Given the description of an element on the screen output the (x, y) to click on. 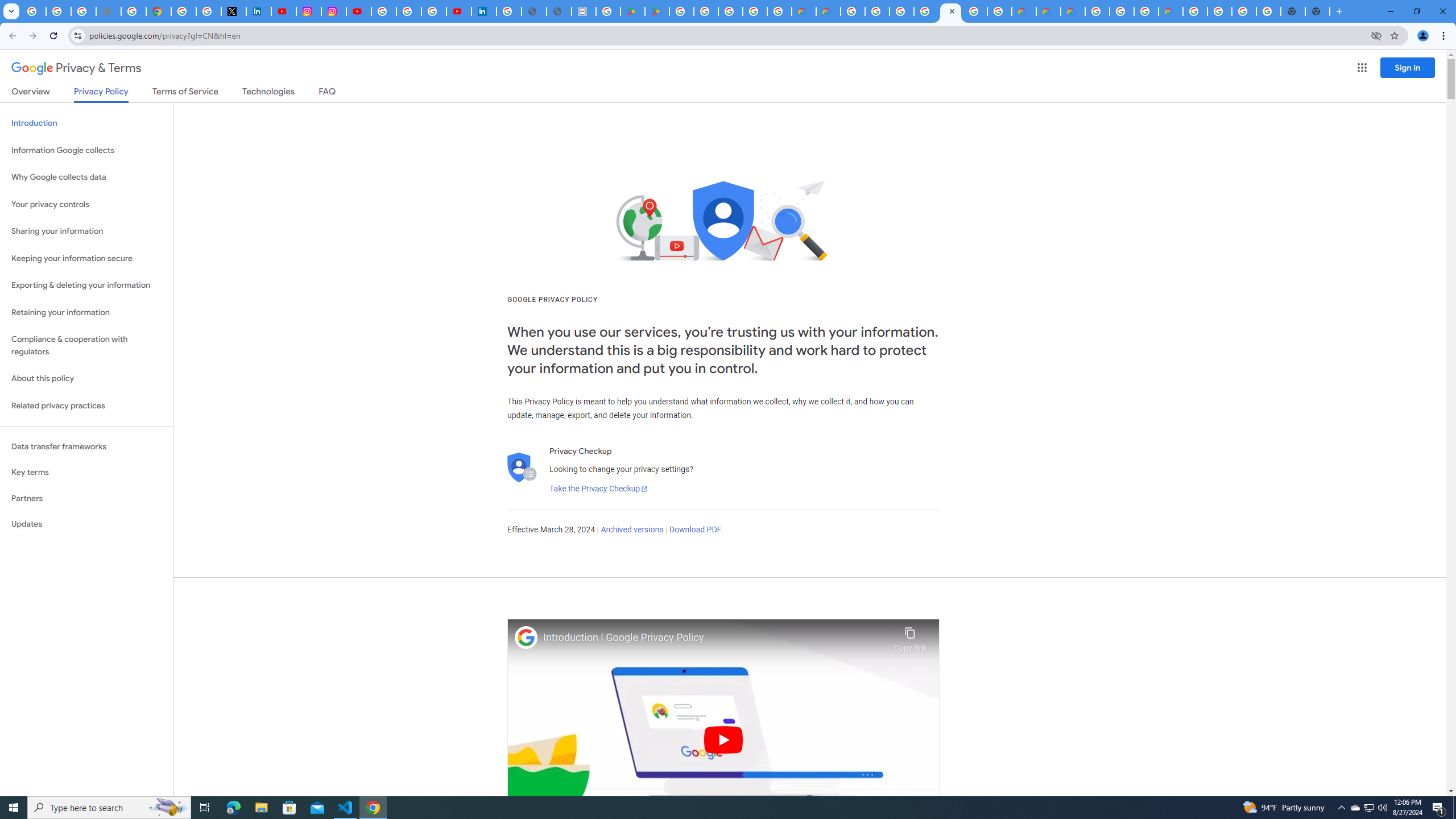
Your privacy controls (86, 204)
Information Google collects (86, 150)
Google Cloud Platform (1219, 11)
Sign in - Google Accounts (182, 11)
Bookmark this tab (1393, 35)
Reload (52, 35)
Data Privacy Framework (583, 11)
Google Cloud Pricing Calculator (1047, 11)
Updates (86, 524)
Google Cloud Platform (975, 11)
